Given the description of an element on the screen output the (x, y) to click on. 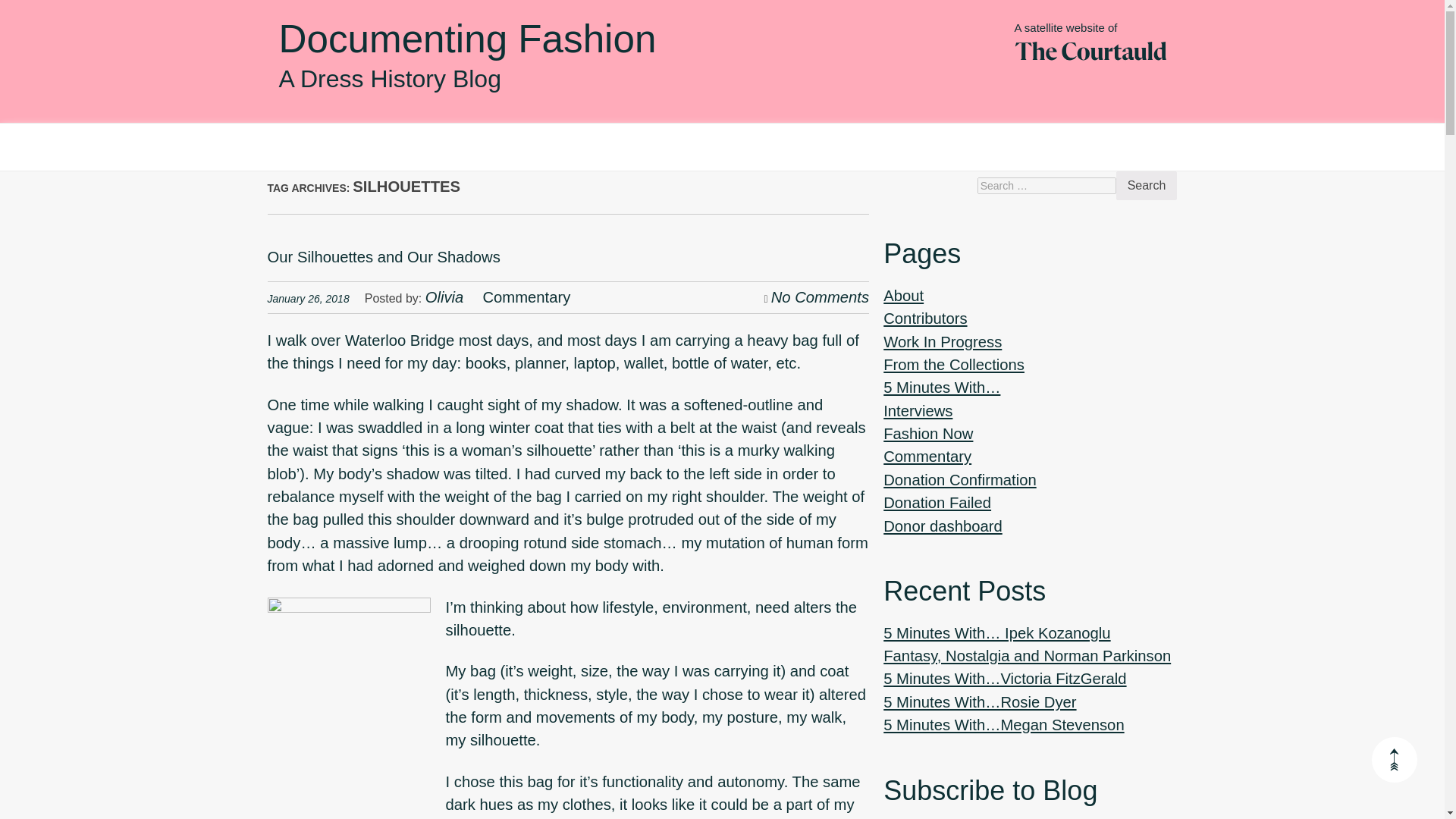
Search (1146, 185)
Olivia (444, 297)
Work In Progress (942, 341)
View all posts by Olivia (444, 297)
Interviews (917, 410)
Donation Failed (937, 502)
Contributors (924, 318)
Commentary (927, 456)
Donor dashboard (942, 525)
No Comments (820, 297)
Comment on Our Silhouettes and Our Shadows (820, 297)
Fashion Now (927, 433)
Our Silhouettes and Our Shadows (382, 256)
Donation Confirmation (959, 479)
Search (1146, 185)
